Given the description of an element on the screen output the (x, y) to click on. 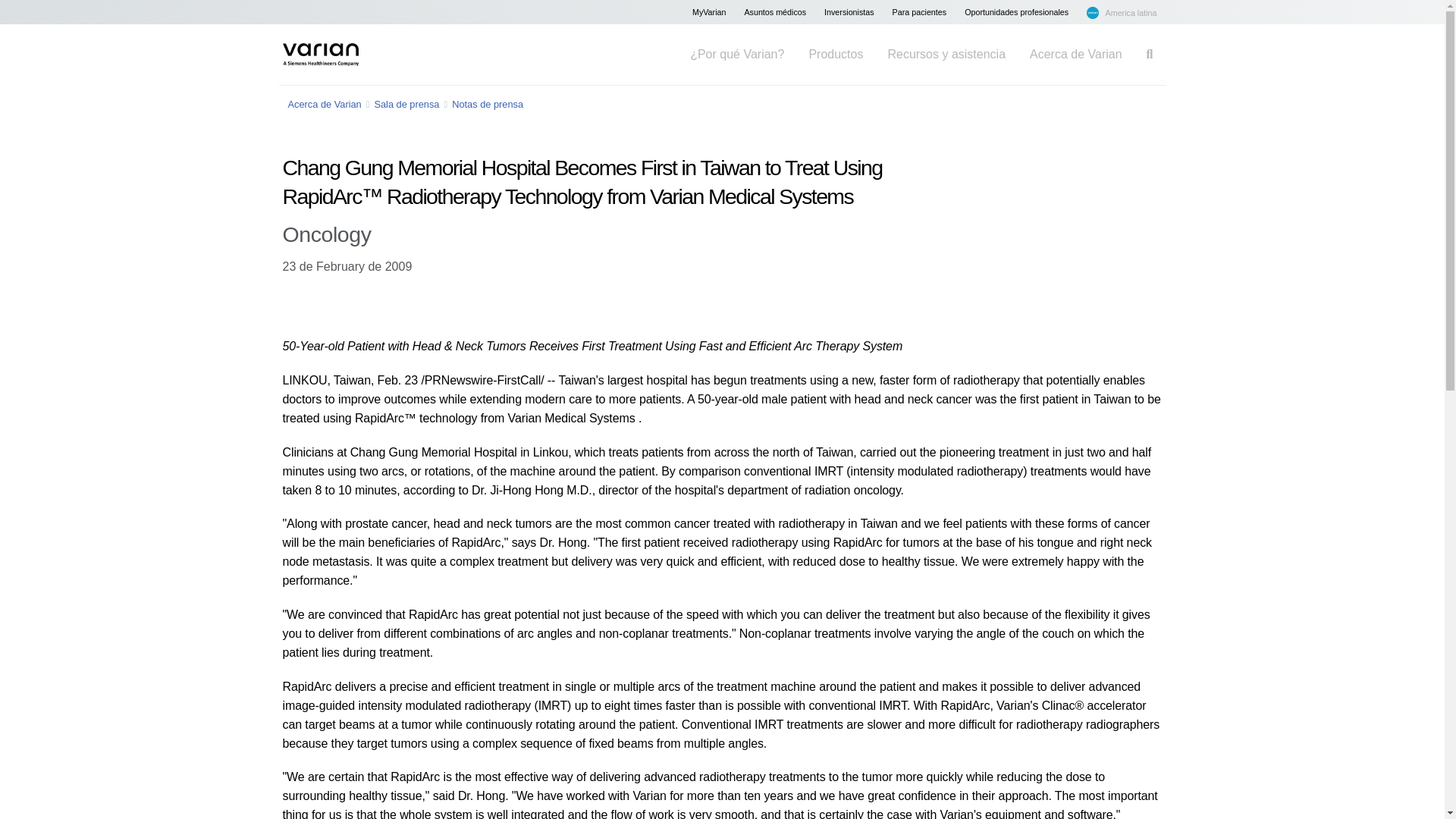
MyVarian (708, 12)
Oportunidades profesionales (1016, 12)
Para pacientes (919, 12)
Acerca de Varian (324, 103)
Notas de prensa (486, 103)
America latina (1121, 12)
Acerca de Varian (1075, 54)
Sala de prensa (406, 103)
Inversionistas (849, 12)
Productos (835, 54)
Varian (320, 54)
Recursos y asistencia (946, 54)
